Given the description of an element on the screen output the (x, y) to click on. 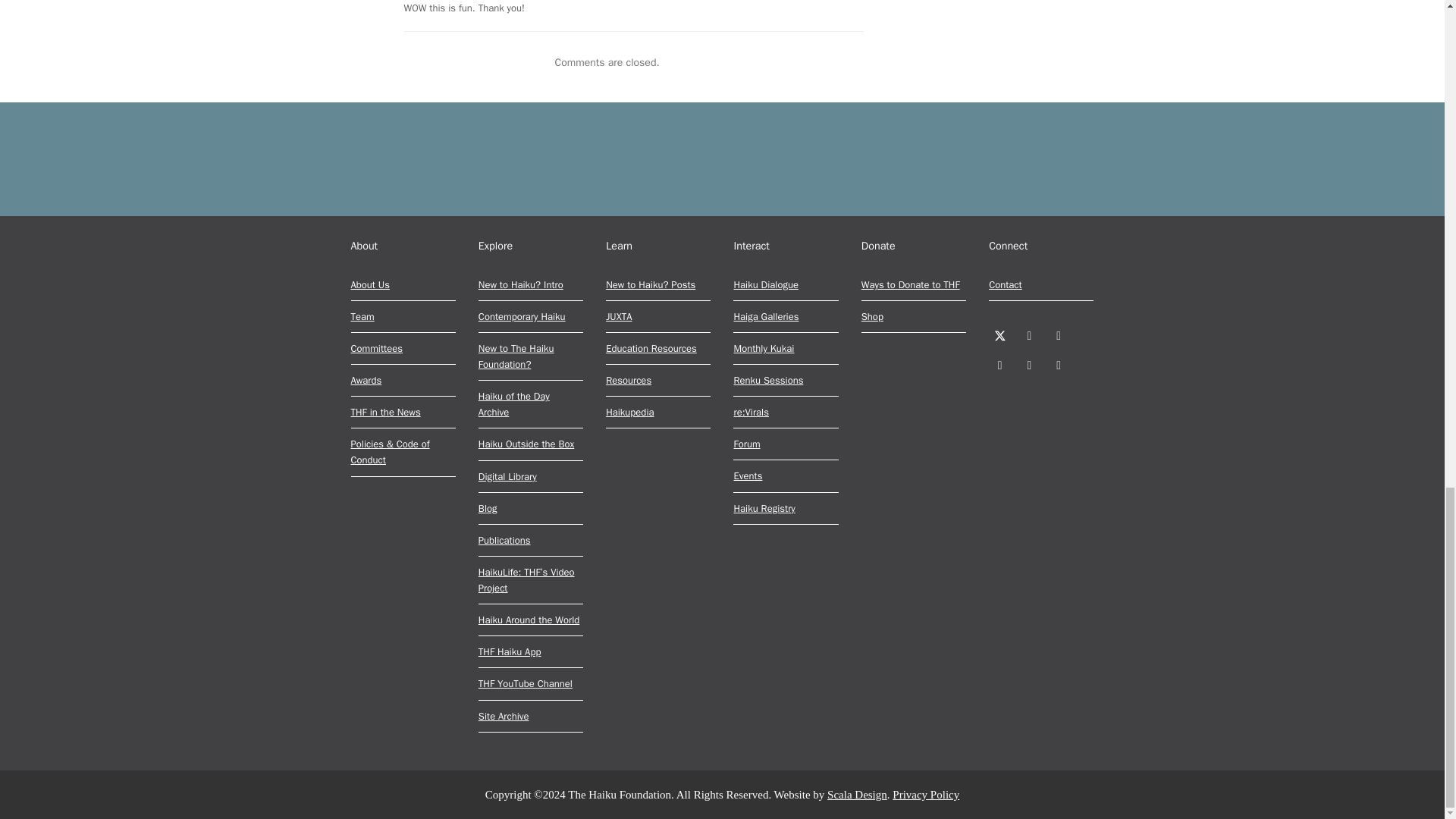
Twitter (999, 336)
Instagram (1059, 336)
Facebook (1029, 336)
YouTube (1029, 365)
Tiktok (1059, 365)
Pinterest (999, 365)
